Given the description of an element on the screen output the (x, y) to click on. 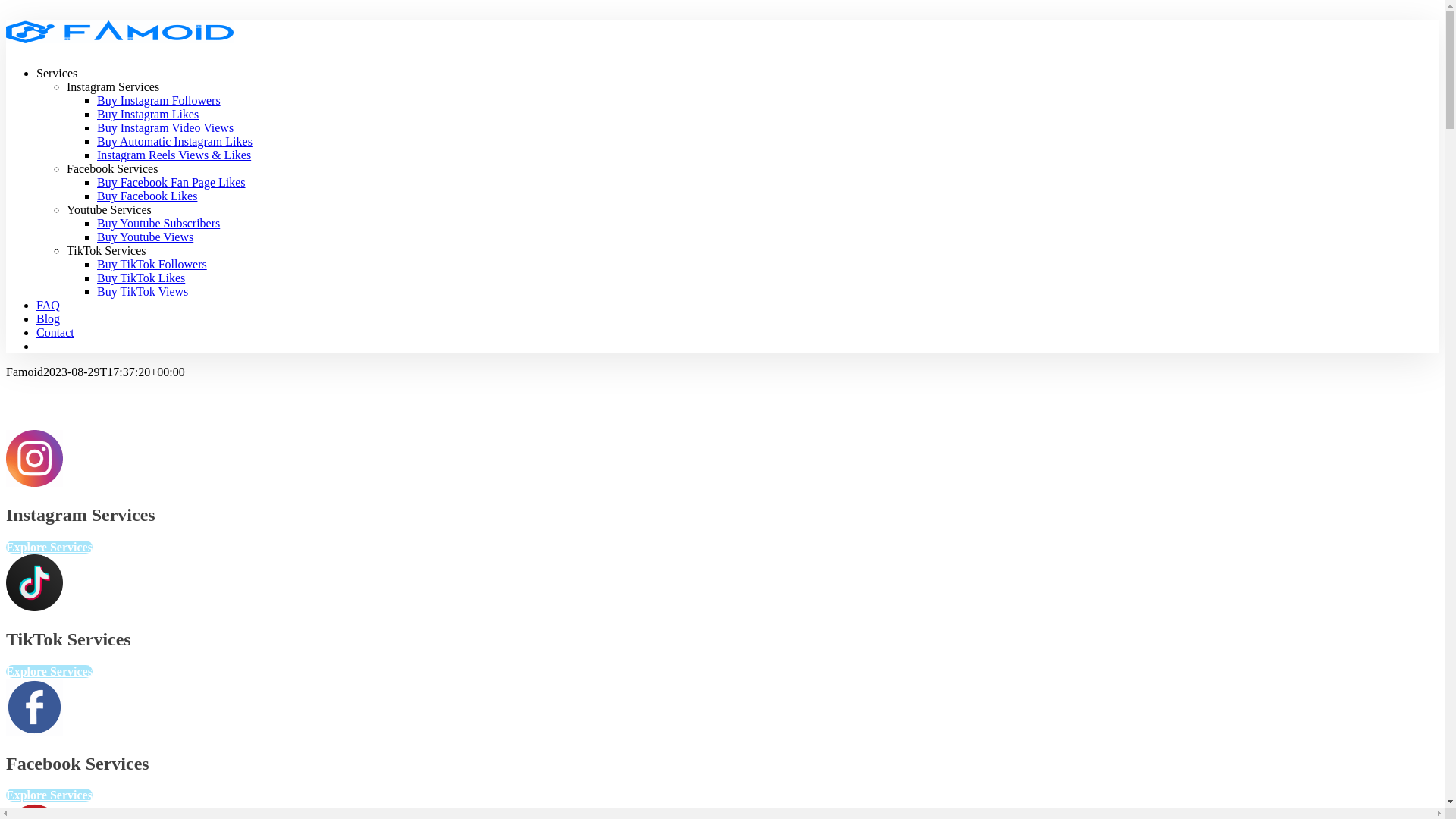
Instagram Services Element type: text (112, 86)
Explore Services Element type: text (49, 671)
Buy Instagram Followers Element type: text (158, 100)
Buy Facebook Fan Page Likes Element type: text (171, 181)
Famoid 3 Element type: hover (34, 706)
Explore Services Element type: text (49, 546)
Youtube Services Element type: text (108, 209)
Facebook Services Element type: text (111, 168)
Buy TikTok Likes Element type: text (141, 277)
Explore Services Element type: text (49, 794)
Famoid 2 Element type: hover (34, 582)
Buy TikTok Views Element type: text (142, 291)
Skip to content Element type: text (5, 19)
Buy Facebook Likes Element type: text (147, 195)
Buy Instagram Likes Element type: text (147, 113)
TikTok Services Element type: text (106, 250)
Buy Instagram Video Views Element type: text (165, 127)
Famoid 1 Element type: hover (34, 457)
Services Element type: text (56, 72)
Blog Element type: text (47, 318)
Contact Element type: text (55, 332)
Instagram Reels Views & Likes Element type: text (174, 154)
Buy Youtube Views Element type: text (145, 236)
Buy Youtube Subscribers Element type: text (158, 222)
FAQ Element type: text (47, 304)
Buy TikTok Followers Element type: text (152, 263)
Buy Automatic Instagram Likes Element type: text (174, 140)
